Given the description of an element on the screen output the (x, y) to click on. 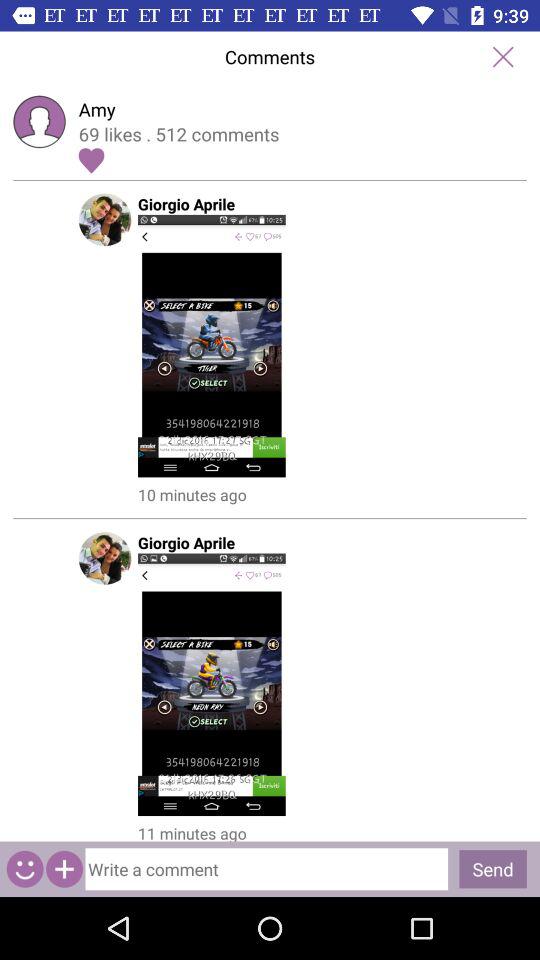
enter comment here (266, 869)
